Given the description of an element on the screen output the (x, y) to click on. 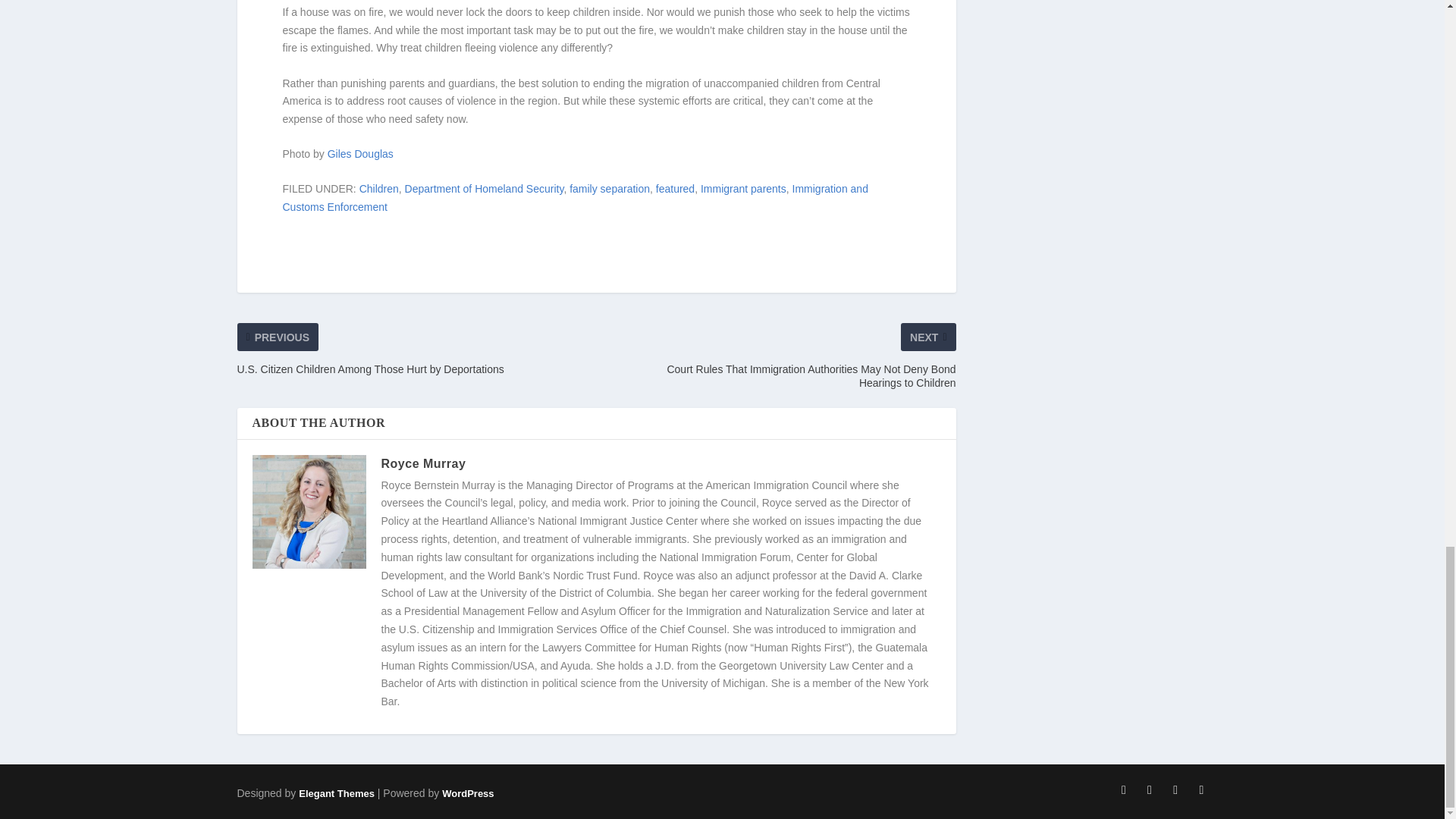
Premium WordPress Themes (336, 793)
View all posts by Royce Murray (422, 463)
Children (378, 188)
Department of Homeland Security (484, 188)
Giles Douglas (360, 153)
